Given the description of an element on the screen output the (x, y) to click on. 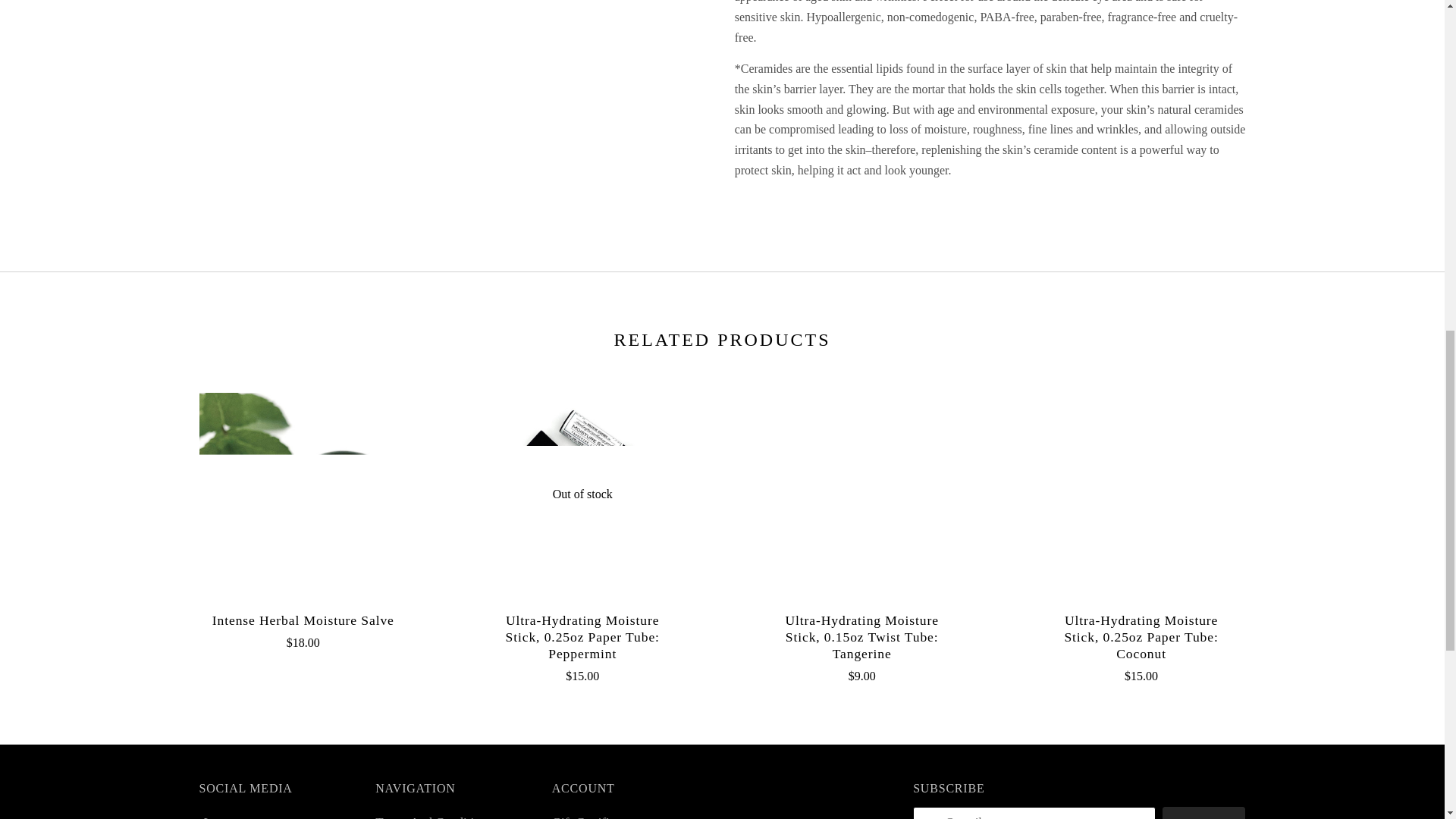
Intense Herbal Moisture Salve (303, 620)
Ultra-Hydrating Moisture Stick, 0.15oz Twist Tube: Tangerine (860, 636)
Submit (1203, 812)
Ultra-Hydrating Moisture Stick, 0.25oz Paper Tube: Coconut (1141, 496)
Ultra-Hydrating Moisture Stick, 0.15oz Twist Tube: Tangerine (861, 496)
Ultra-Hydrating Moisture Stick, 0.25oz Paper Tube: Coconut (1140, 636)
Intense Herbal Moisture Salve (302, 496)
